Given the description of an element on the screen output the (x, y) to click on. 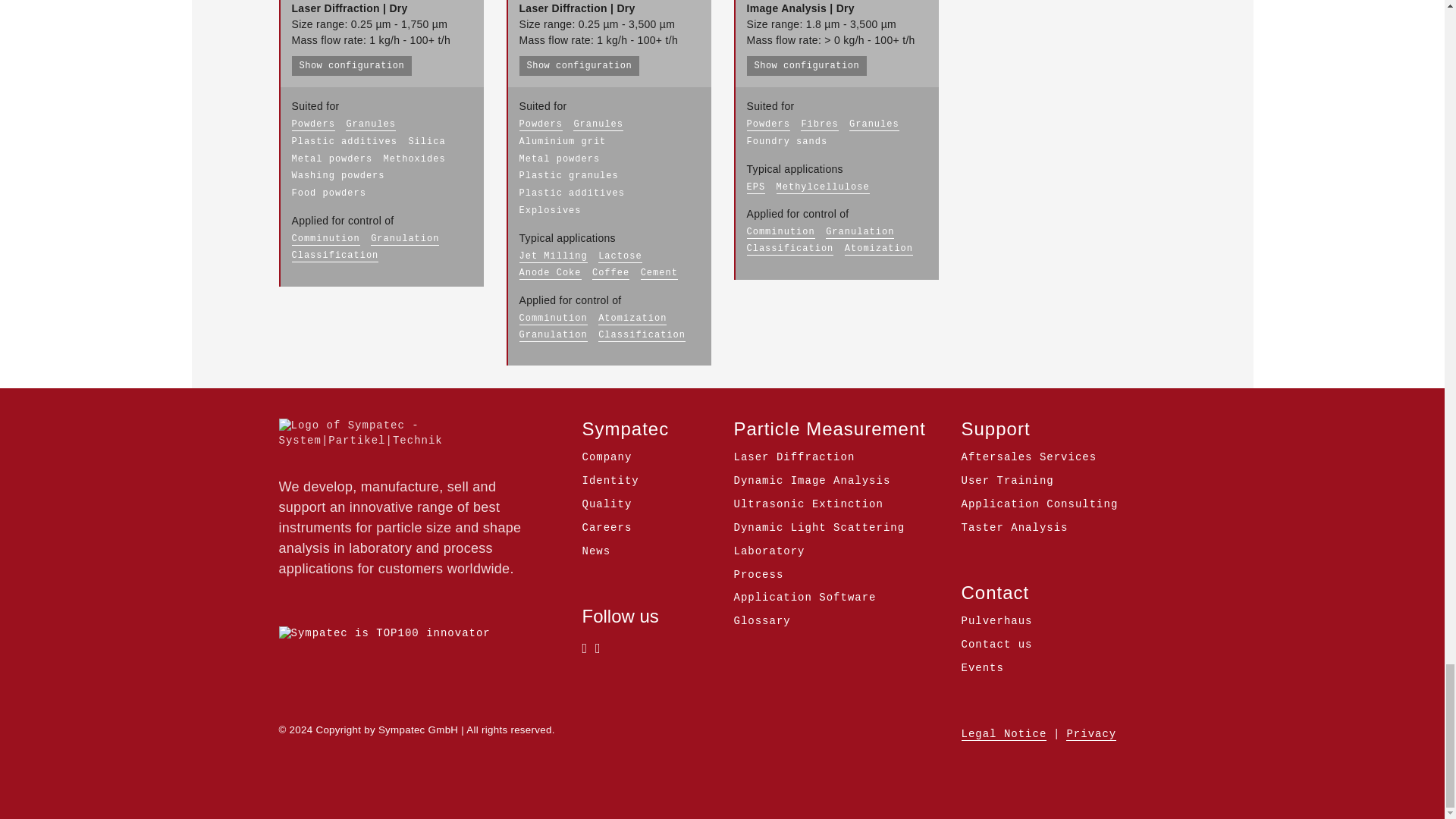
top innovator 2019 (384, 633)
